Given the description of an element on the screen output the (x, y) to click on. 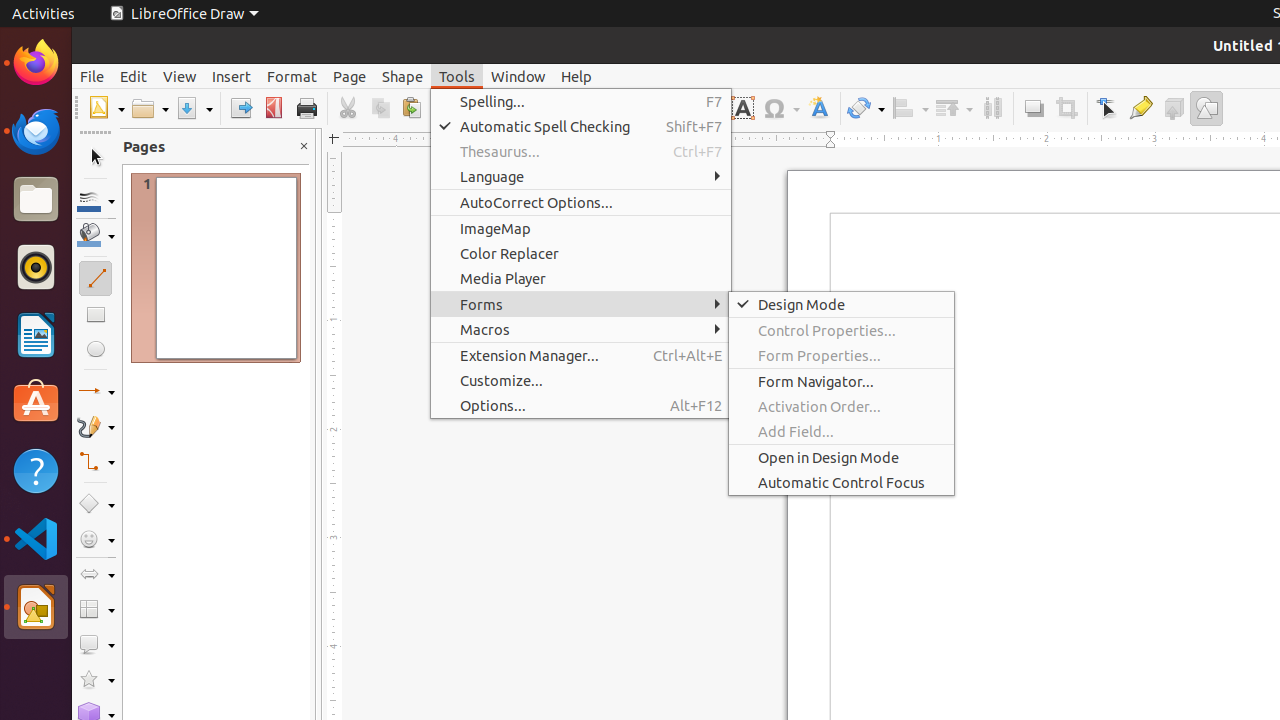
Customize... Element type: menu-item (581, 380)
Distribution Element type: push-button (992, 108)
Activation Order... Element type: menu-item (841, 406)
Toggle Extrusion Element type: push-button (1173, 108)
Color Replacer Element type: check-menu-item (581, 253)
